Given the description of an element on the screen output the (x, y) to click on. 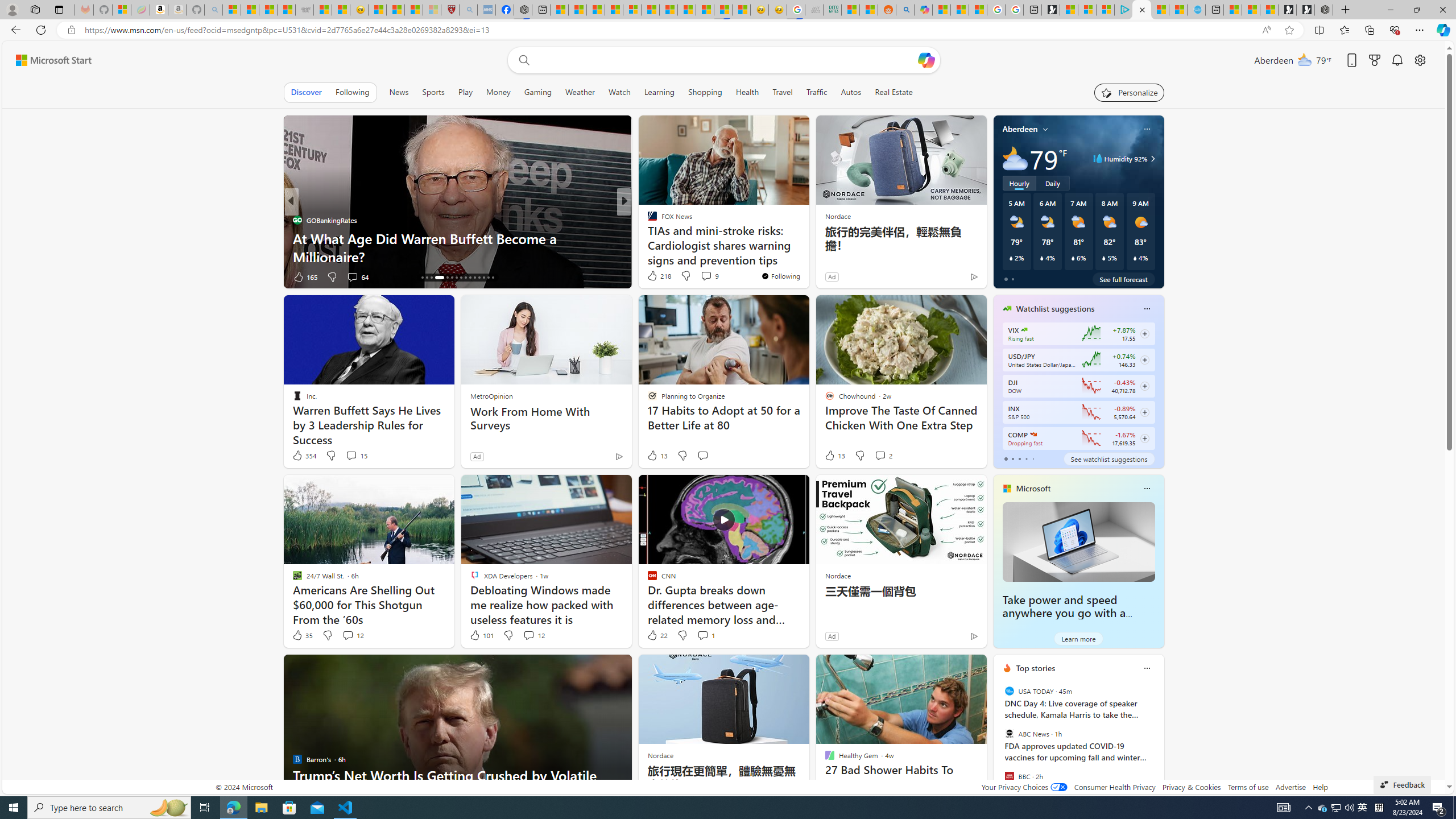
HowToGeek (647, 238)
View comments 64 Comment (6, 276)
AutomationID: tab-27 (478, 277)
next (1158, 741)
View comments 11 Comment (698, 276)
